Given the description of an element on the screen output the (x, y) to click on. 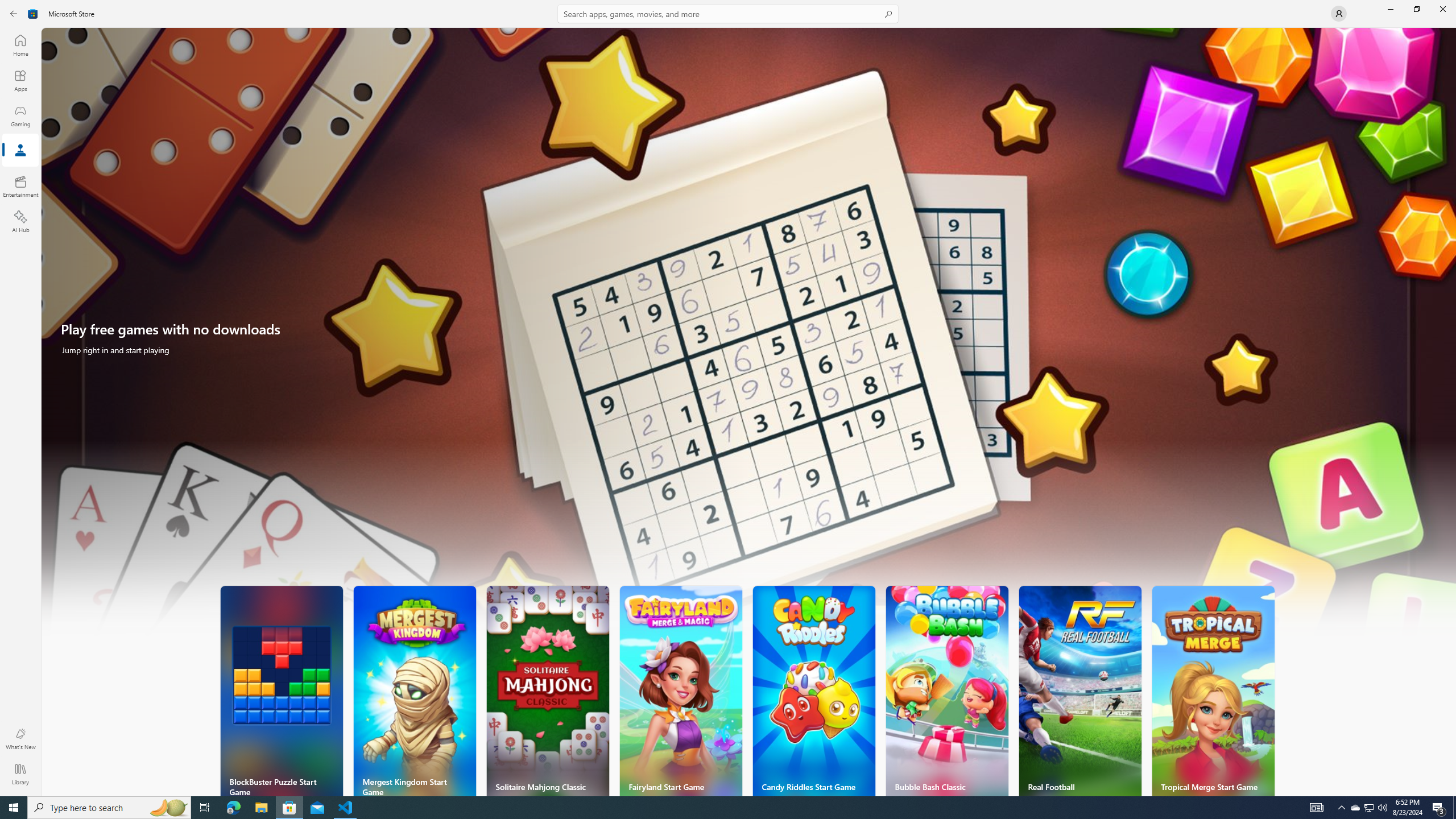
AutomationID: NavigationControl (728, 398)
